Given the description of an element on the screen output the (x, y) to click on. 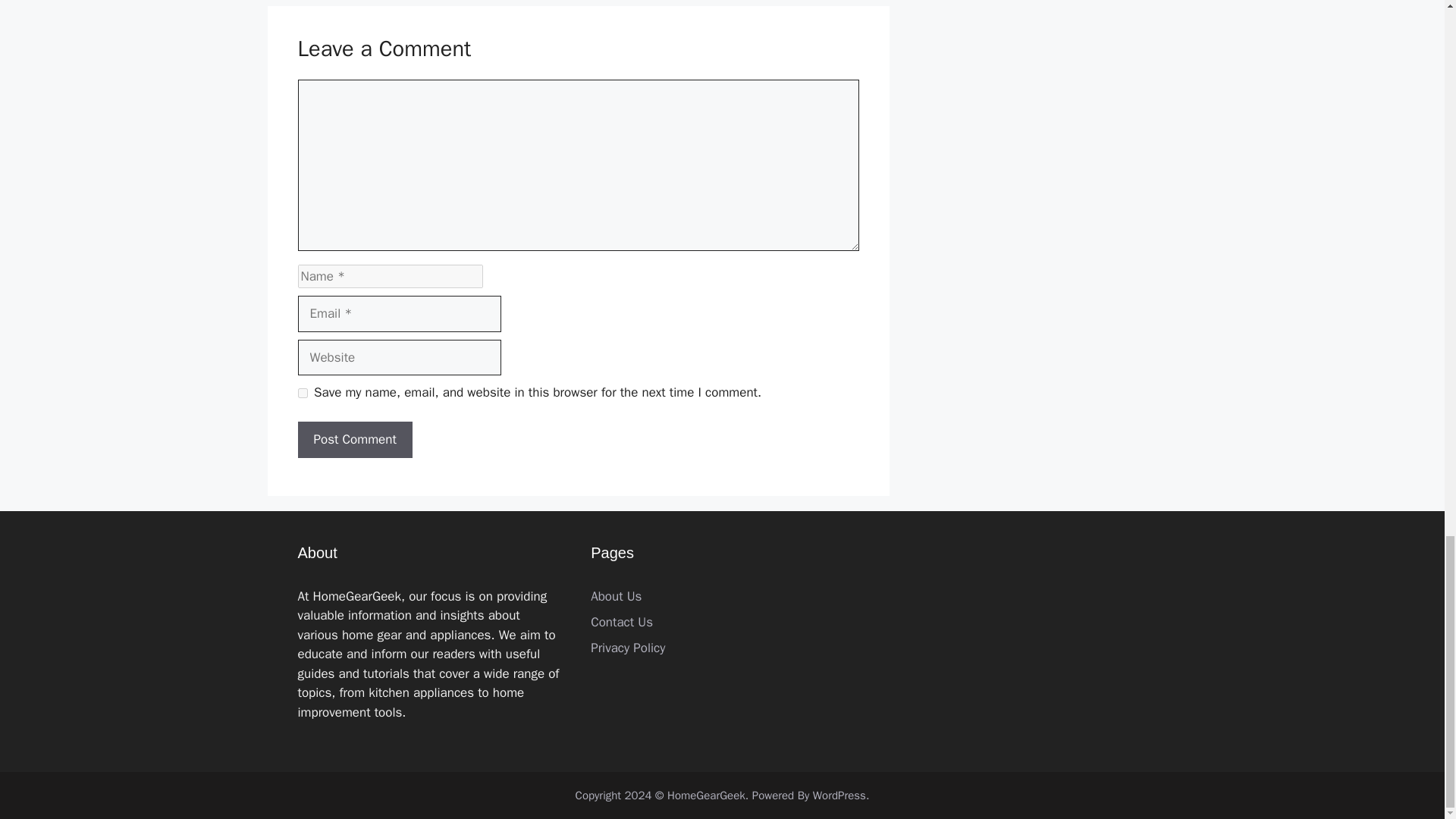
WordPress (839, 795)
Post Comment (354, 439)
Privacy Policy (628, 647)
Contact Us (621, 621)
Post Comment (354, 439)
About Us (616, 596)
yes (302, 393)
HomeGearGeek (705, 795)
